Given the description of an element on the screen output the (x, y) to click on. 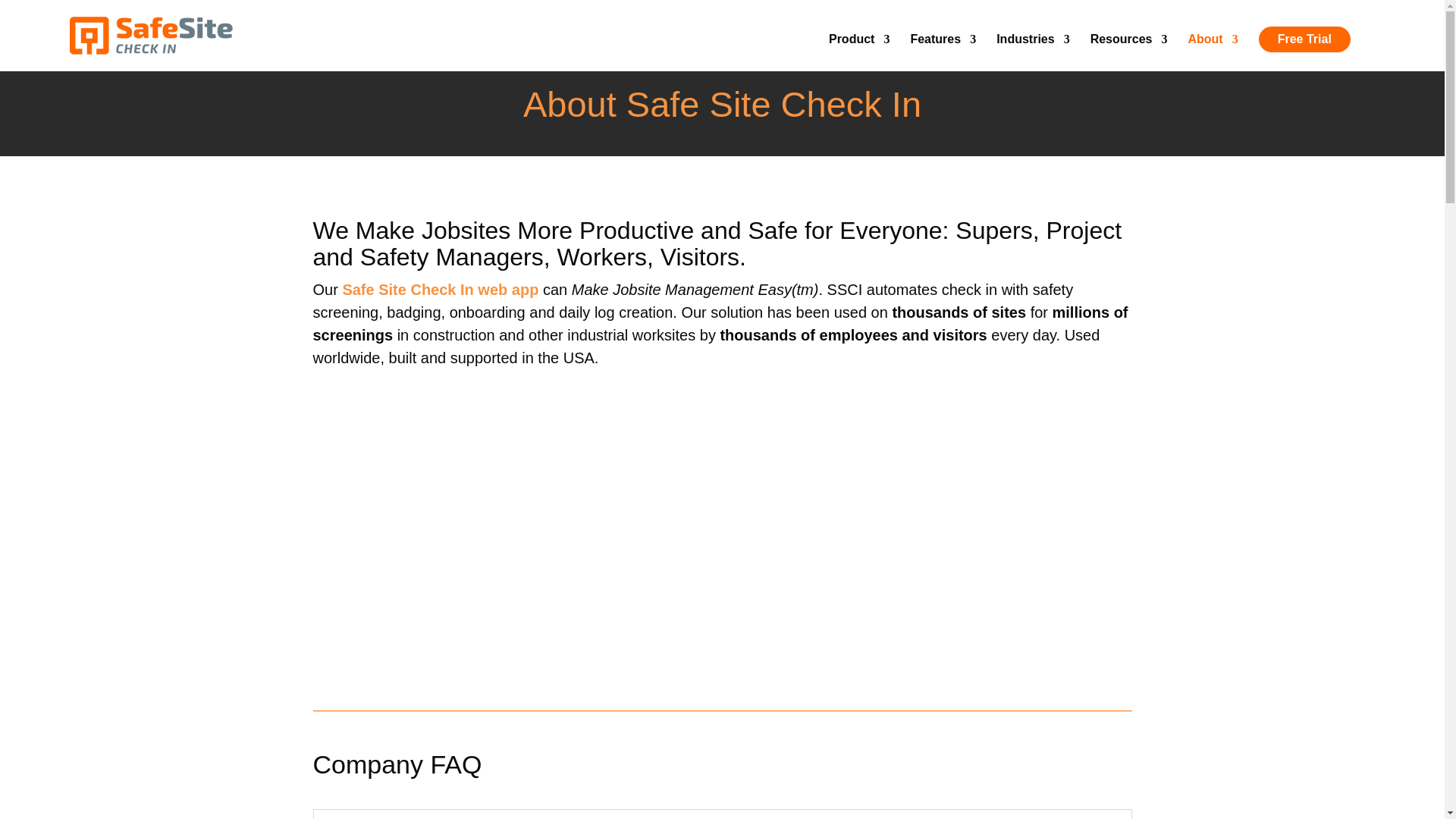
Features (942, 52)
Industries (1031, 52)
Product (858, 52)
Resources (1128, 52)
About (1212, 52)
